Given the description of an element on the screen output the (x, y) to click on. 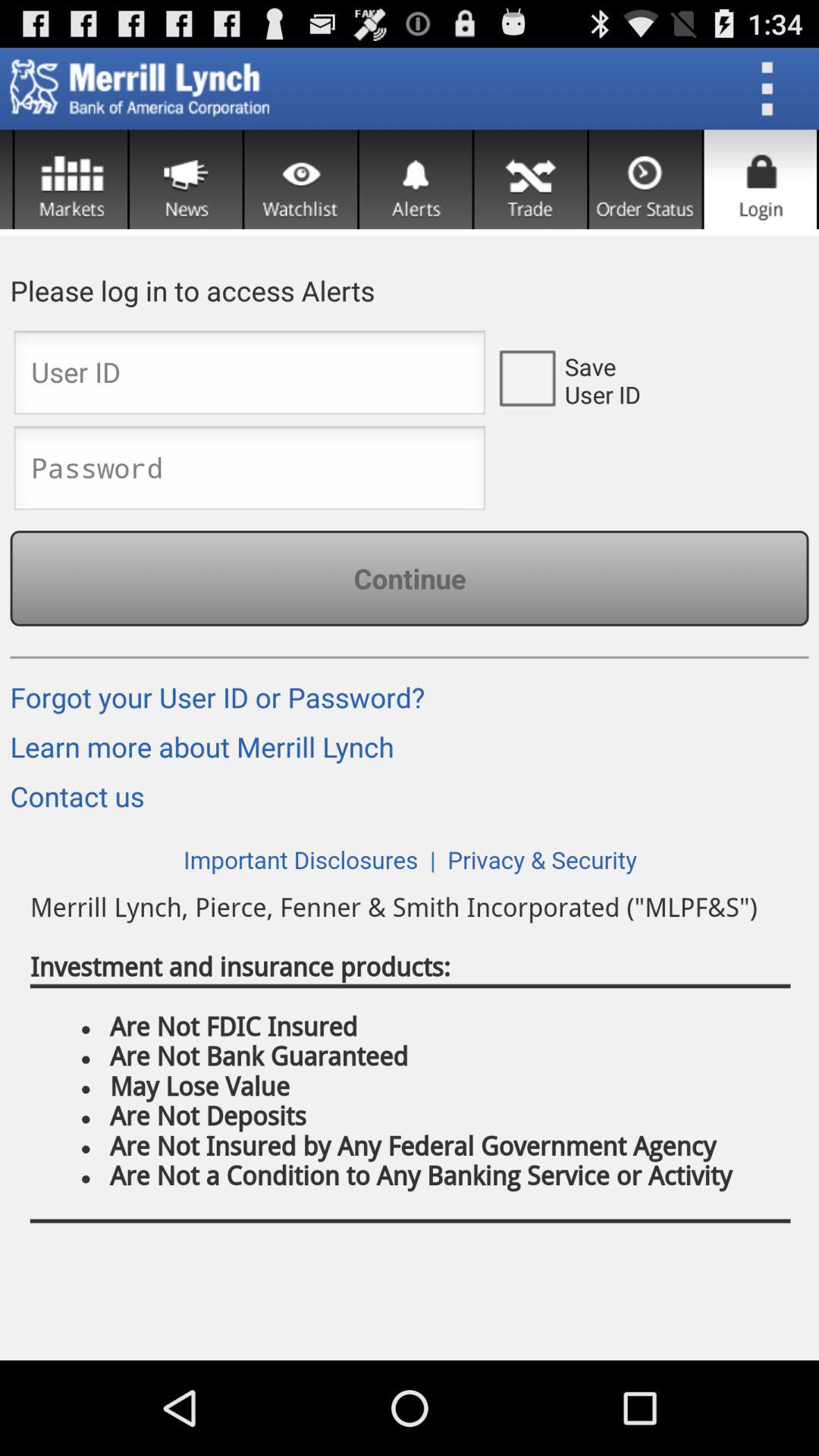
alerts option (415, 179)
